Given the description of an element on the screen output the (x, y) to click on. 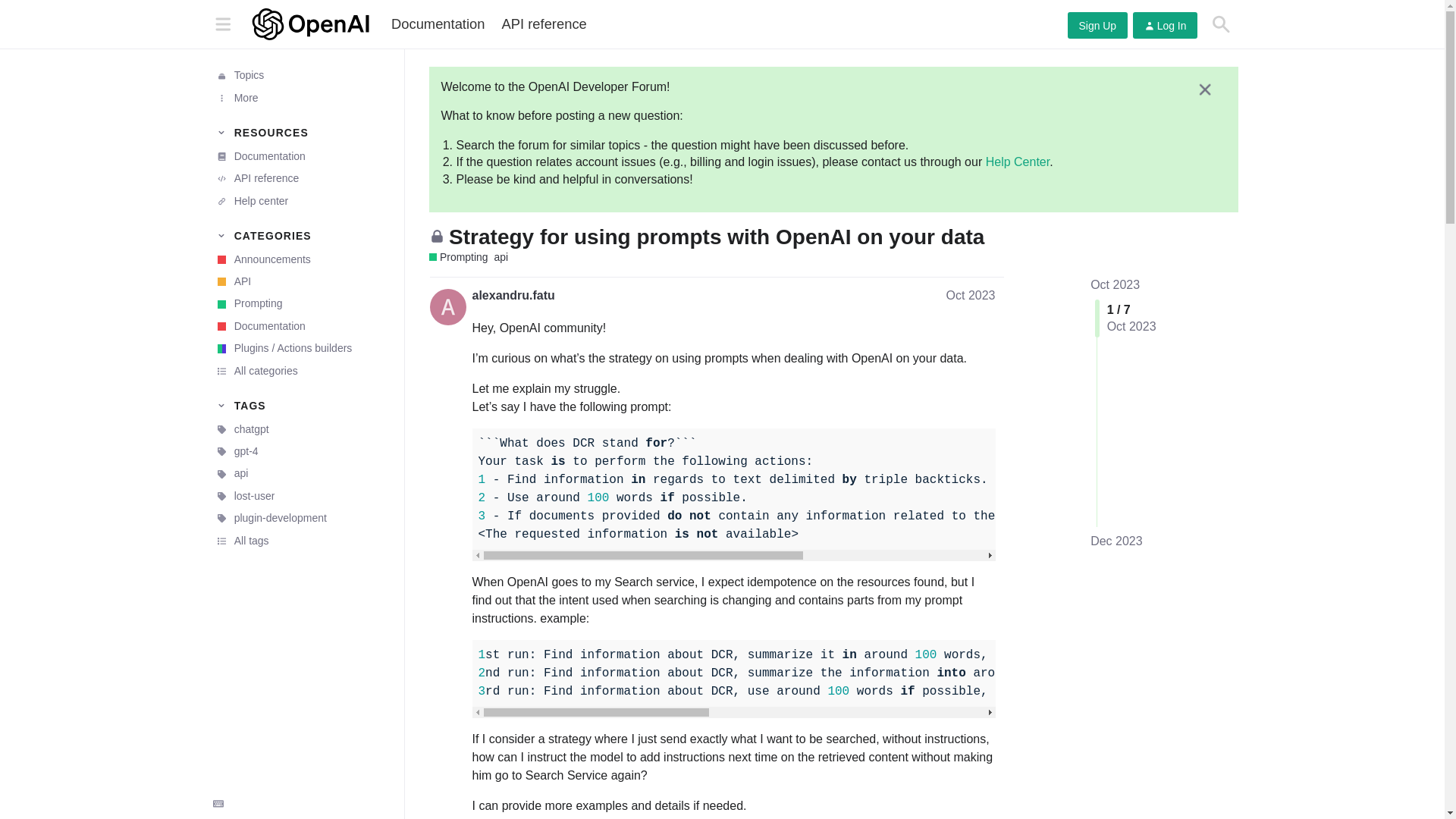
RESOURCES (301, 132)
API (301, 281)
Toggle section (301, 132)
Oct 2023 (1115, 284)
CATEGORIES (301, 235)
lost-user (301, 495)
Announcements (301, 259)
api (301, 473)
API reference (543, 23)
Documentation (301, 326)
All categories (301, 371)
Sign Up (1096, 25)
Sidebar (222, 23)
